Given the description of an element on the screen output the (x, y) to click on. 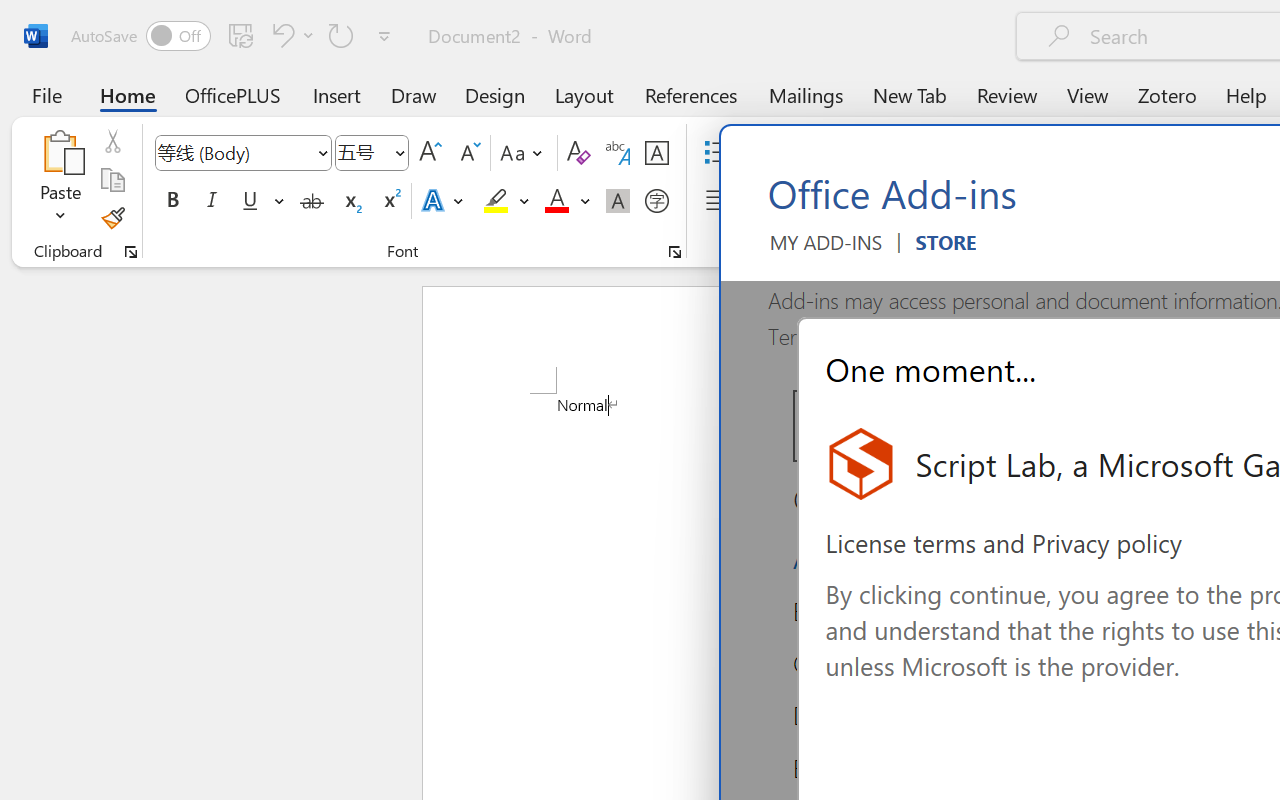
Undo Apply Quick Style (290, 35)
View (1087, 94)
Open (399, 152)
Office Clipboard... (131, 252)
Superscript (390, 201)
Change Case (524, 153)
Strikethrough (312, 201)
Mailings (806, 94)
References (690, 94)
Grow Font (430, 153)
Bold (172, 201)
Underline (250, 201)
Review (1007, 94)
